Given the description of an element on the screen output the (x, y) to click on. 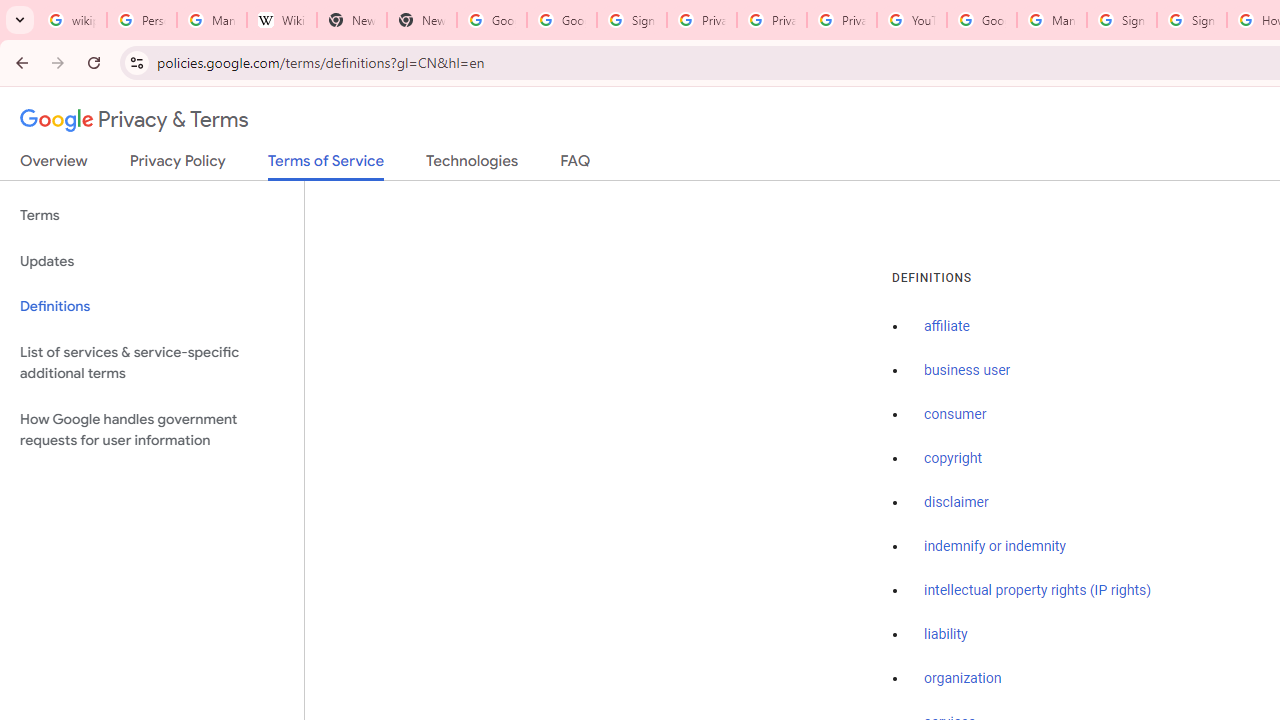
Wikipedia:Edit requests - Wikipedia (282, 20)
affiliate (947, 327)
disclaimer (956, 502)
intellectual property rights (IP rights) (1038, 590)
liability (945, 634)
Sign in - Google Accounts (1121, 20)
New Tab (421, 20)
Sign in - Google Accounts (631, 20)
New Tab (351, 20)
